Given the description of an element on the screen output the (x, y) to click on. 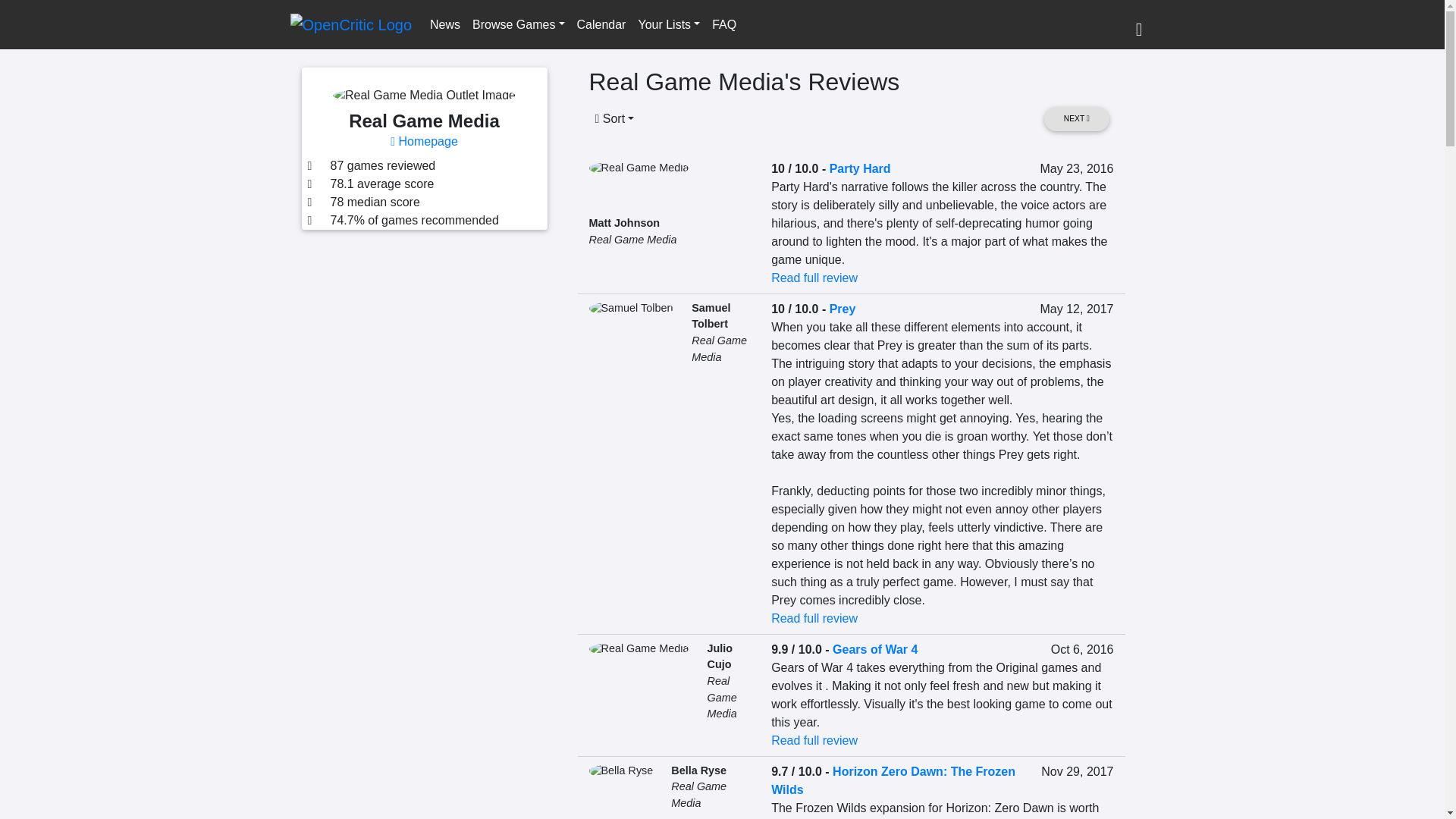
News (444, 24)
NEXT (1075, 118)
Read full review (814, 617)
Real Game Media (718, 348)
Matt Johnson (623, 223)
Party Hard (860, 168)
FAQ (724, 24)
Calendar (600, 24)
Julio Cujo (719, 656)
Real Game Media (721, 696)
Your Lists (668, 24)
Homepage (424, 141)
Real Game Media (632, 239)
Samuel Tolbert (710, 316)
Read full review (814, 277)
